Given the description of an element on the screen output the (x, y) to click on. 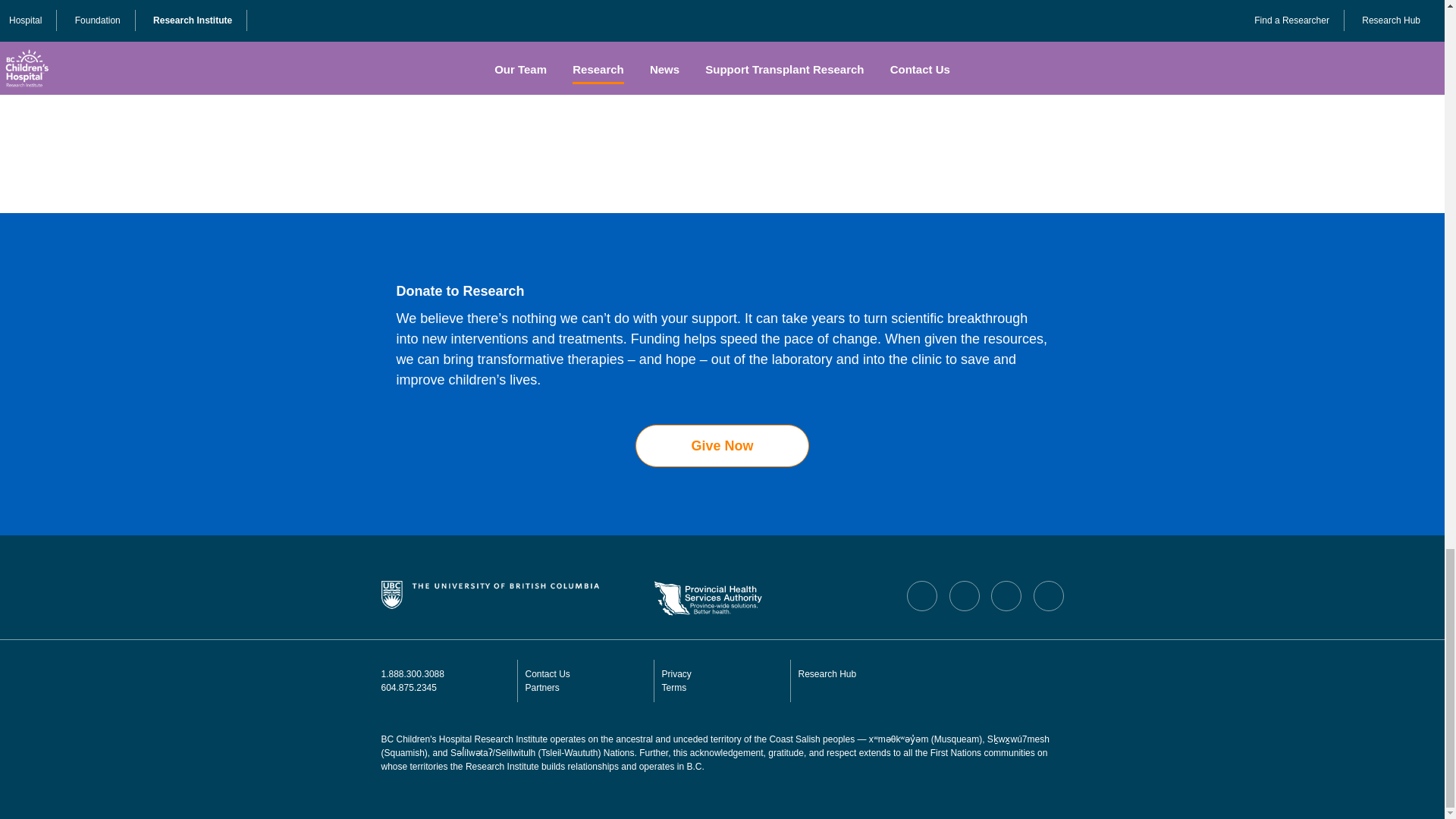
Give Now (721, 445)
